Given the description of an element on the screen output the (x, y) to click on. 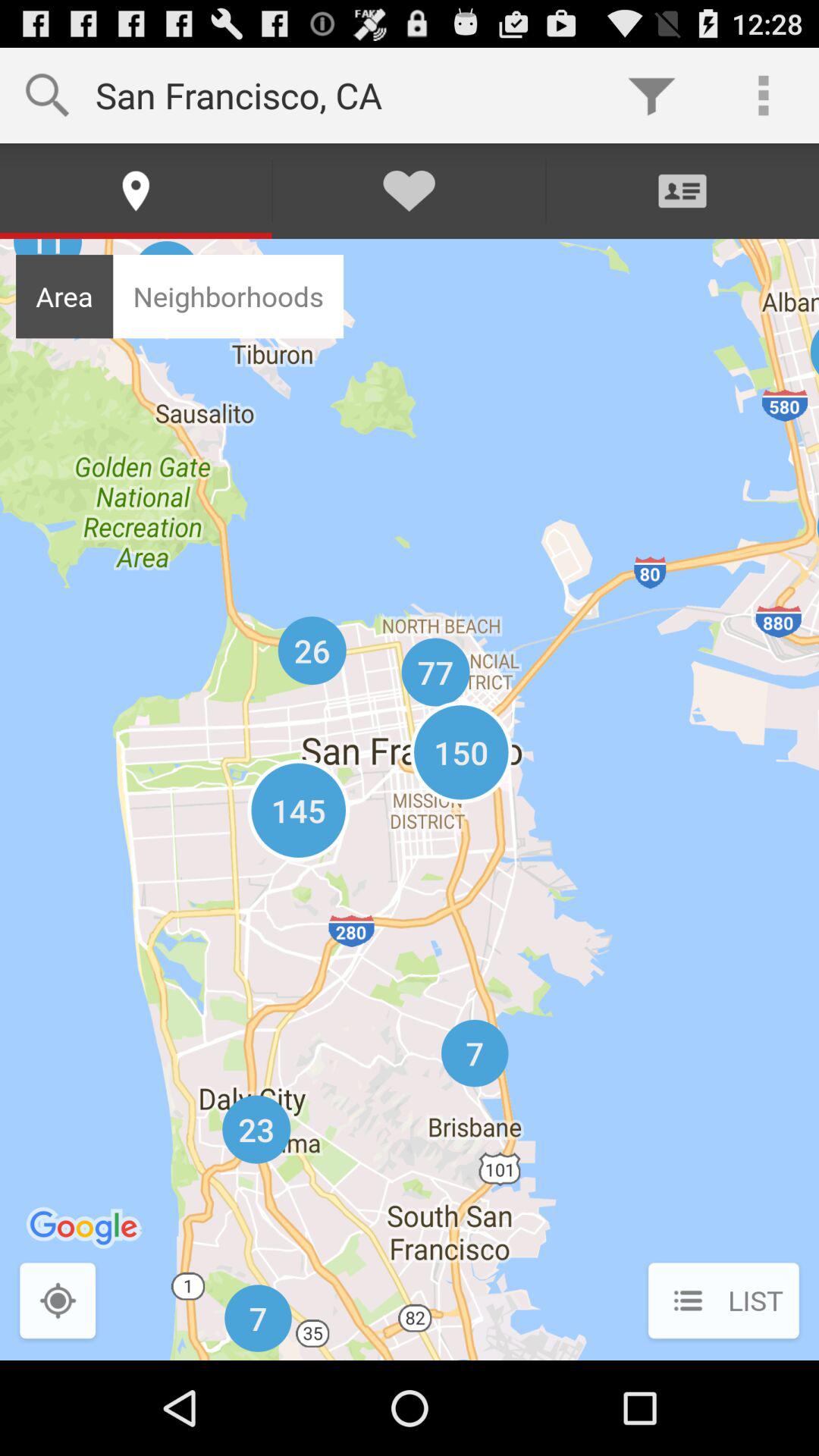
search a location (57, 1302)
